Given the description of an element on the screen output the (x, y) to click on. 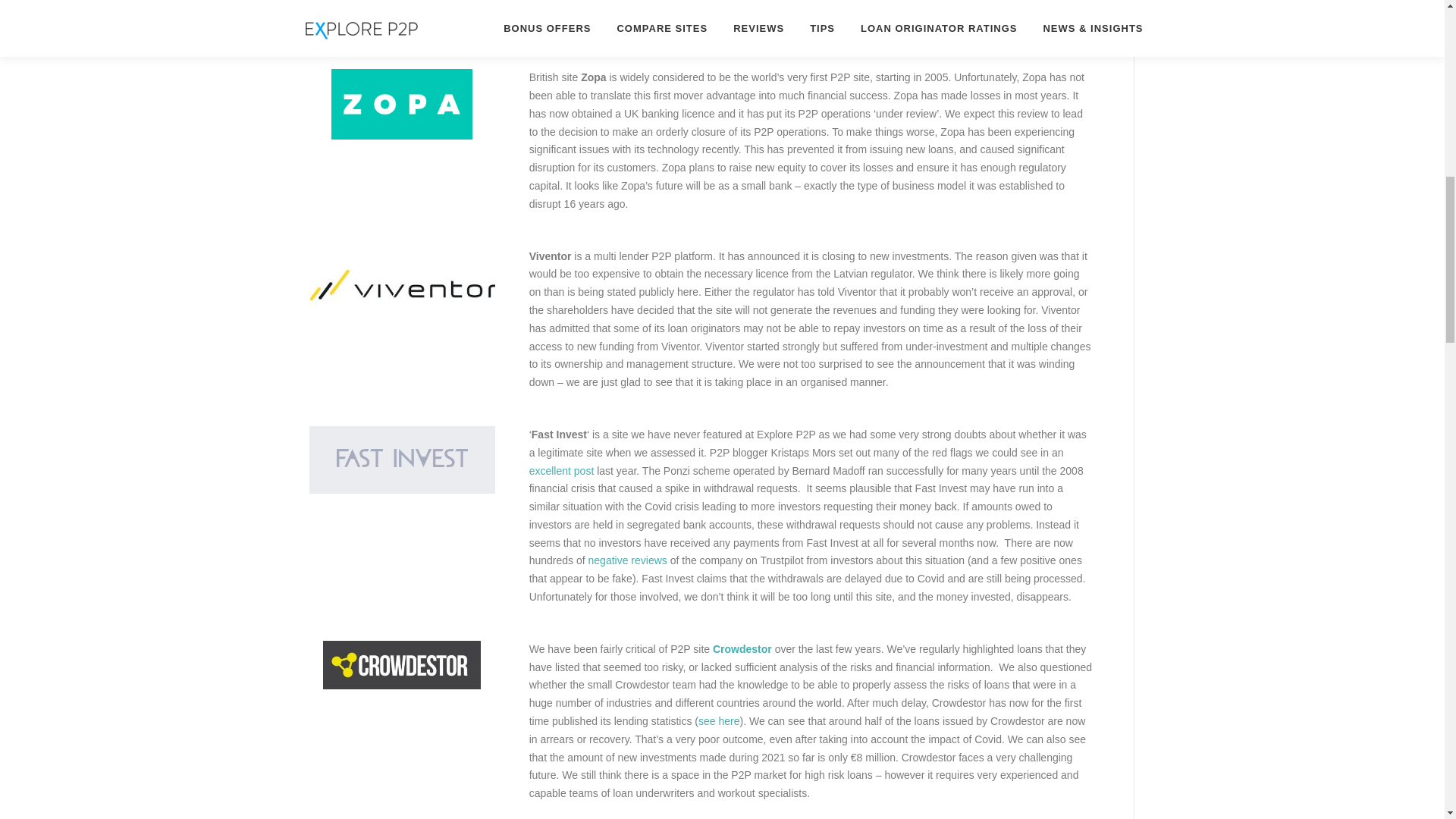
see here (718, 720)
Crowdestor (742, 648)
negative reviews (627, 560)
excellent post (561, 469)
